Given the description of an element on the screen output the (x, y) to click on. 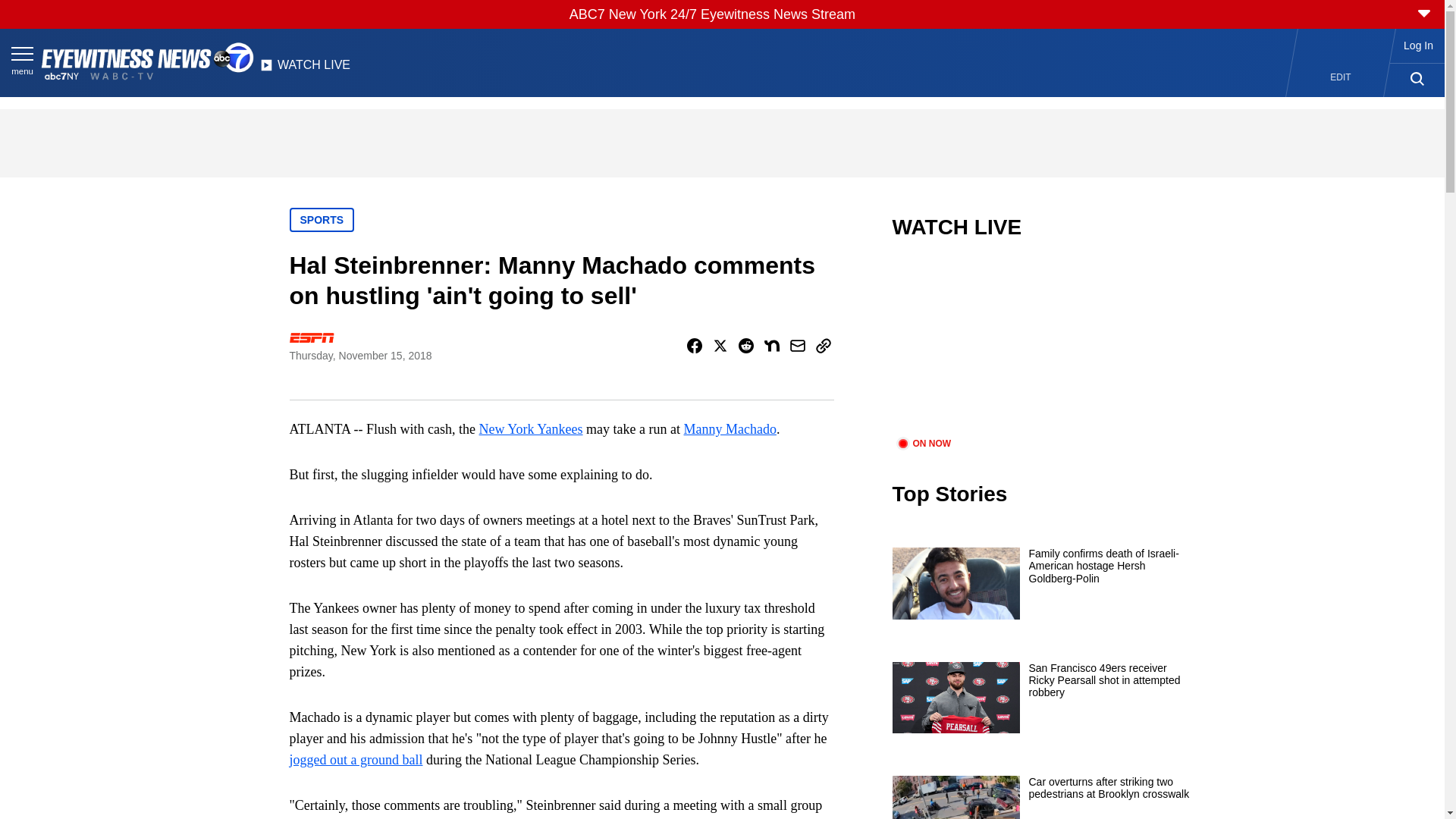
EDIT (1340, 77)
video.title (1043, 347)
WATCH LIVE (305, 69)
